Given the description of an element on the screen output the (x, y) to click on. 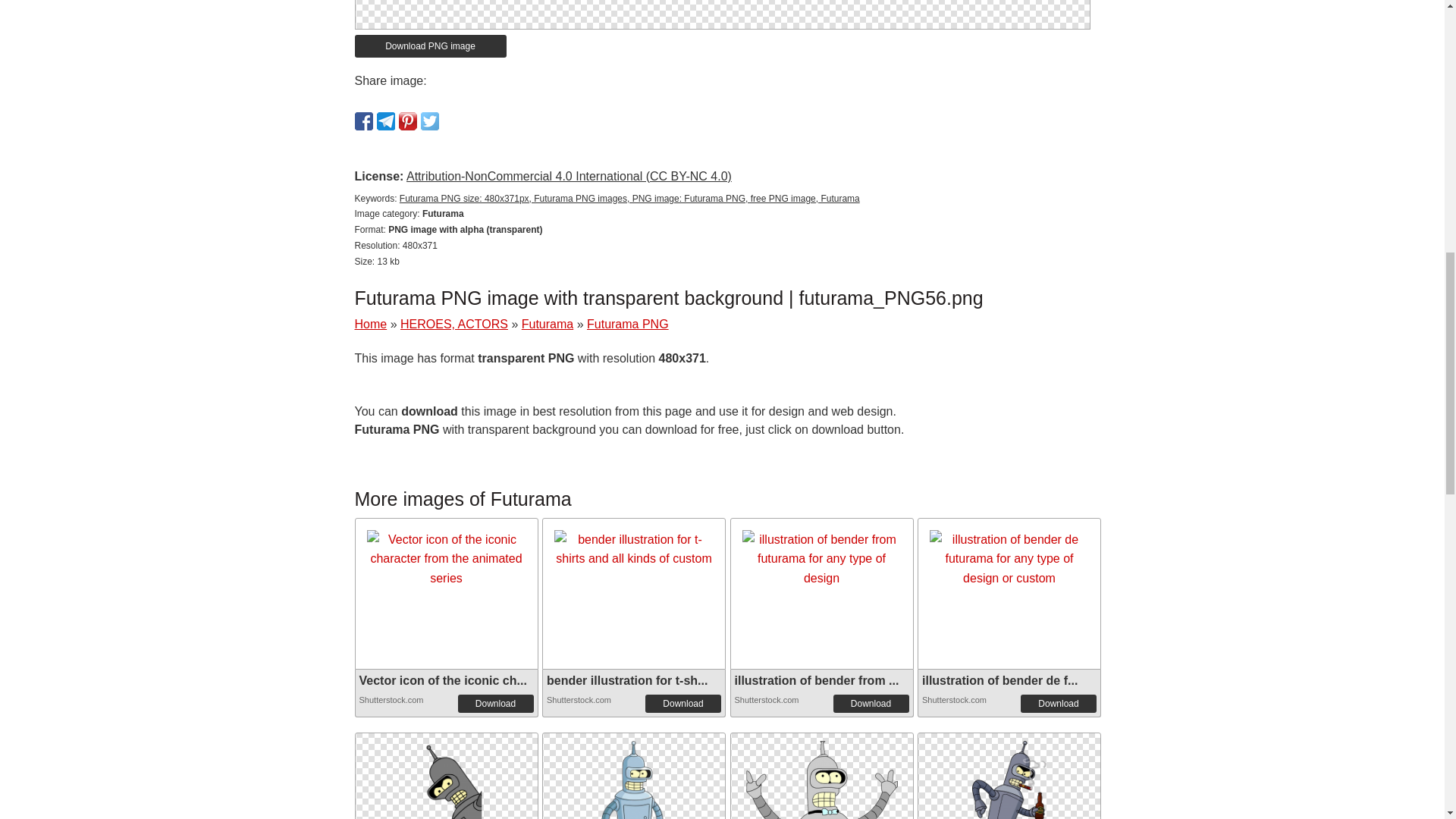
illustration of bender from futurama for any type of design (821, 558)
Download (682, 703)
Tweet (429, 121)
Futurama PNG (821, 792)
Futurama PNG (821, 776)
Download (870, 703)
Download (496, 703)
Futurama Bender PNG (633, 803)
illustration of bender de f... (999, 680)
Share in Facebook (363, 121)
Futurama PNG (627, 323)
Home (371, 323)
bender illustration for t-shirts and all kinds of custom (633, 548)
Share in Telegram (384, 121)
